Given the description of an element on the screen output the (x, y) to click on. 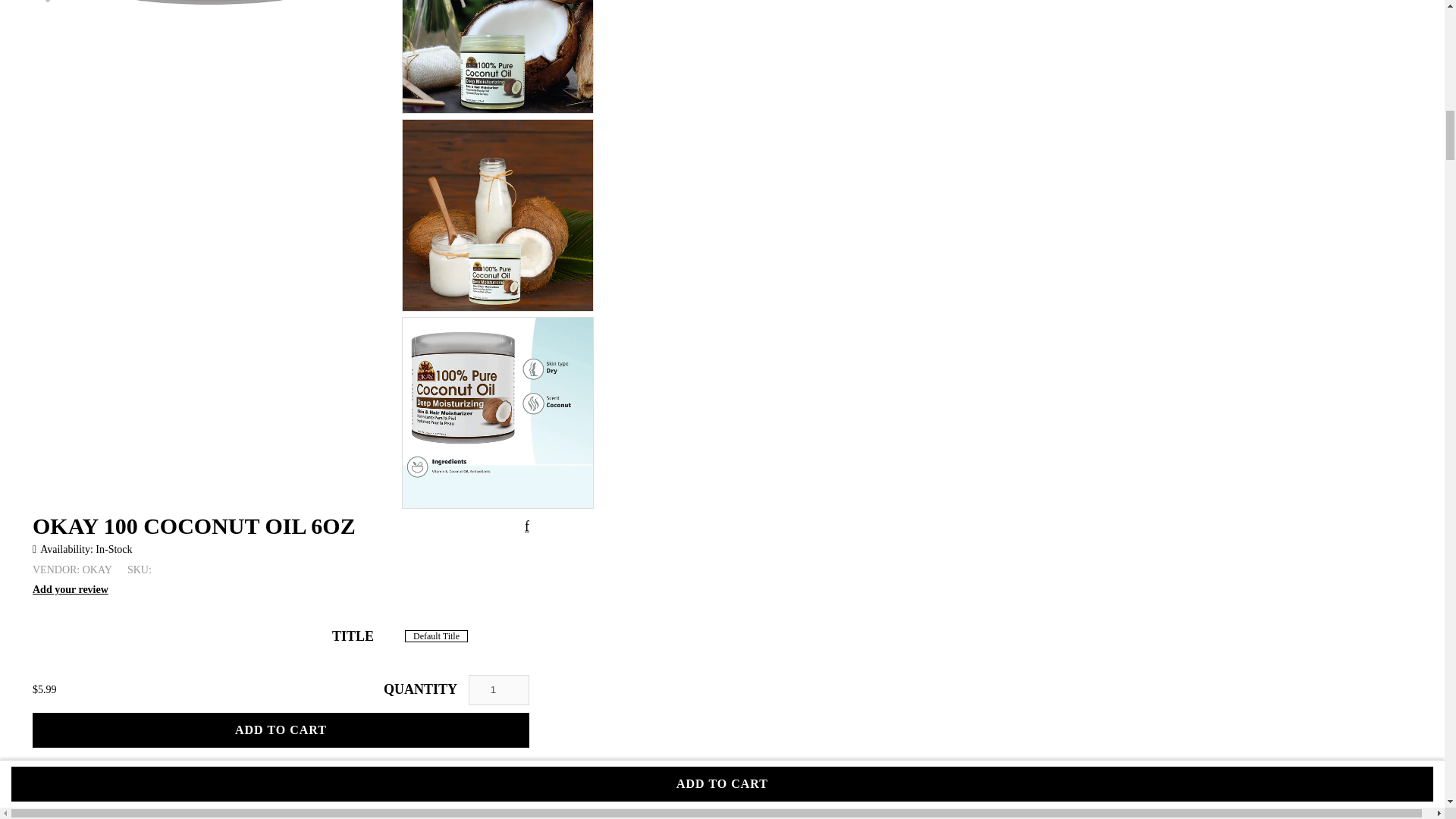
Add To Compare (146, 770)
1 (498, 689)
Add To Wishlist (63, 770)
